Given the description of an element on the screen output the (x, y) to click on. 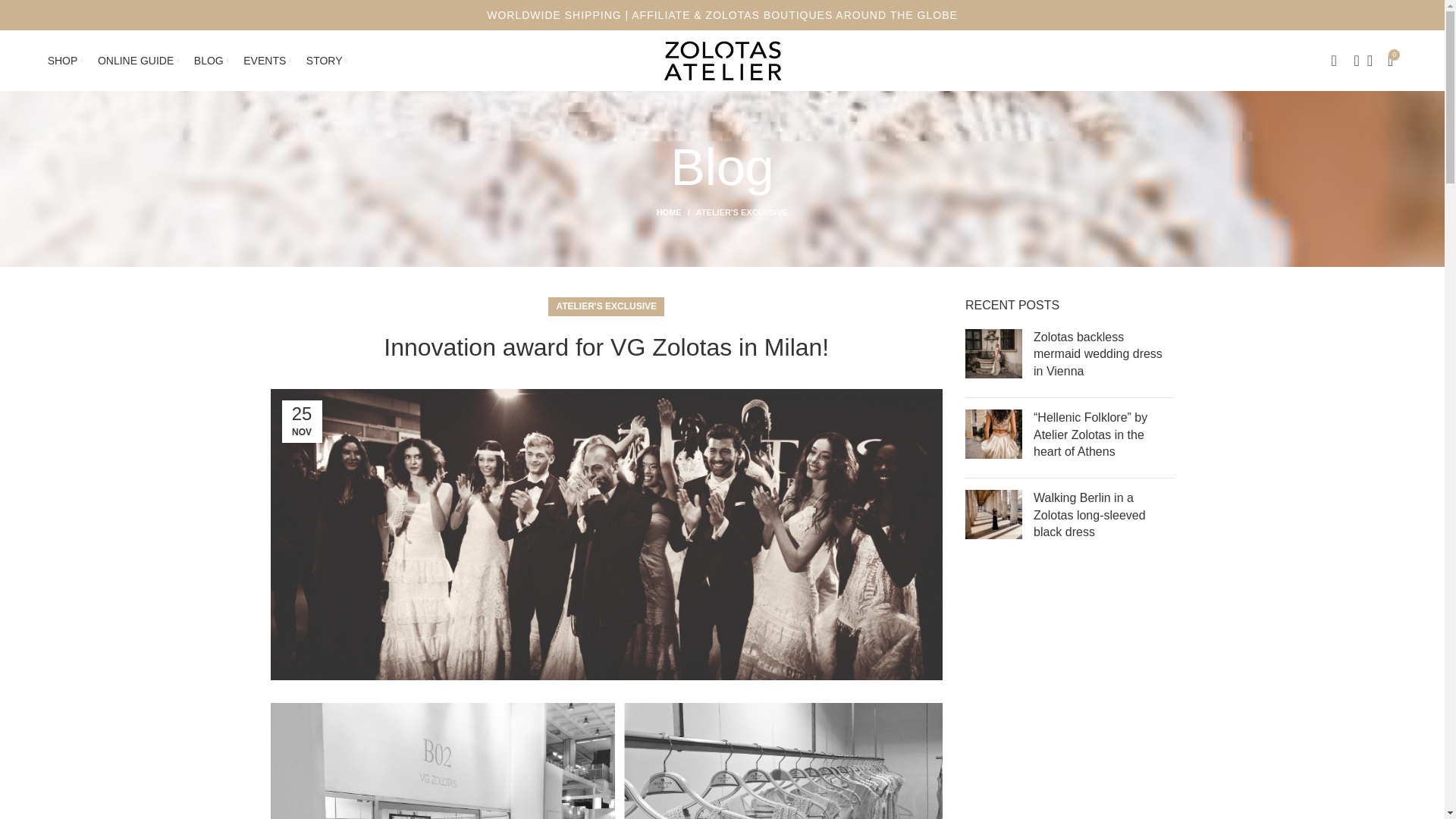
HOME (675, 212)
SHOP (65, 60)
EVENTS (267, 60)
BLOG (210, 60)
ONLINE GUIDE (138, 60)
STORY (326, 60)
ATELIER'S EXCLUSIVE (742, 212)
